Given the description of an element on the screen output the (x, y) to click on. 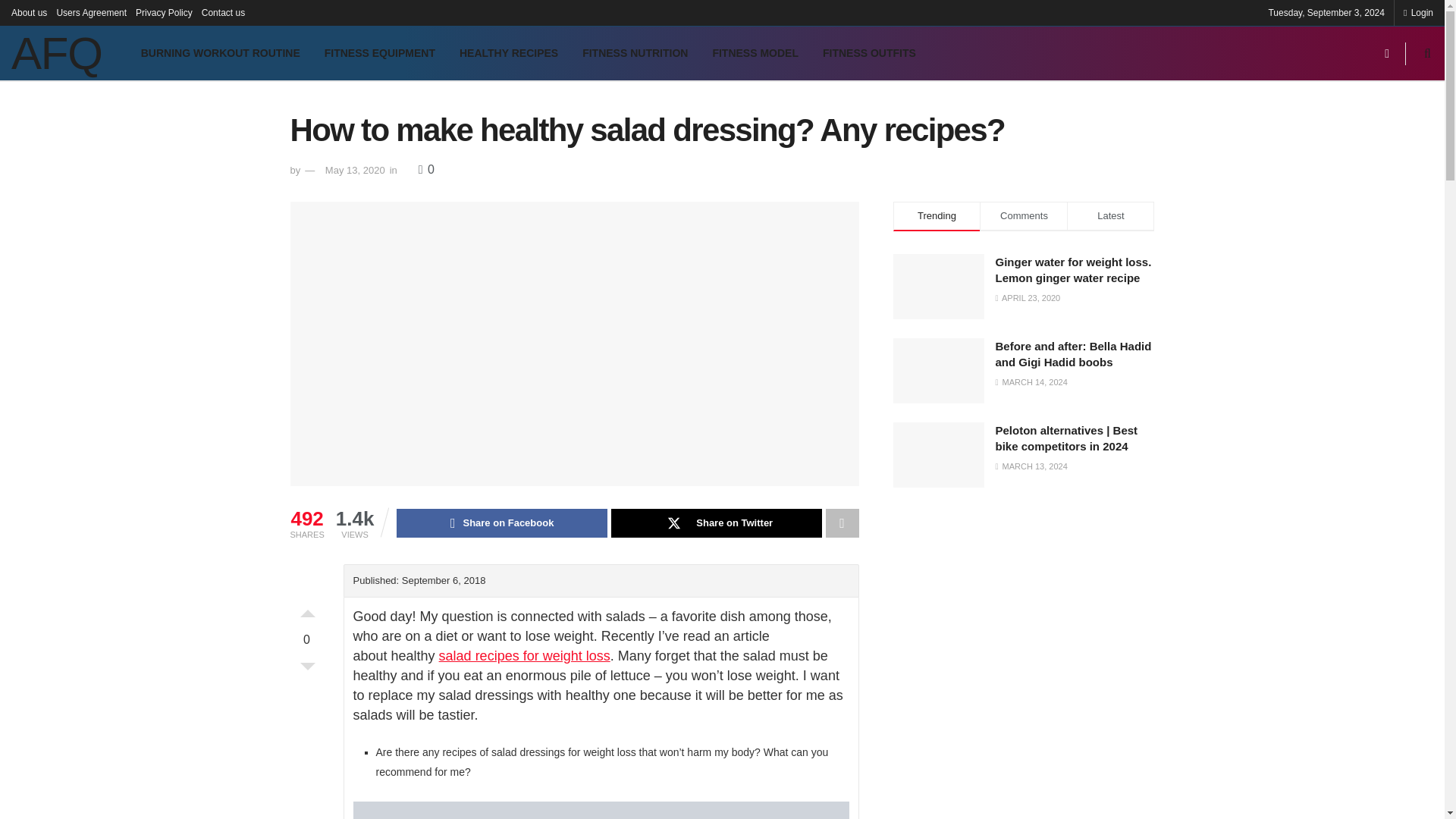
Users Agreement (91, 12)
FITNESS OUTFITS (869, 53)
AFQ (56, 53)
salad recipes for weight loss (524, 655)
Share on Facebook (501, 522)
May 13, 2020 (354, 170)
FITNESS EQUIPMENT (379, 53)
BURNING WORKOUT ROUTINE (221, 53)
0 (426, 169)
Contact us (223, 12)
